Given the description of an element on the screen output the (x, y) to click on. 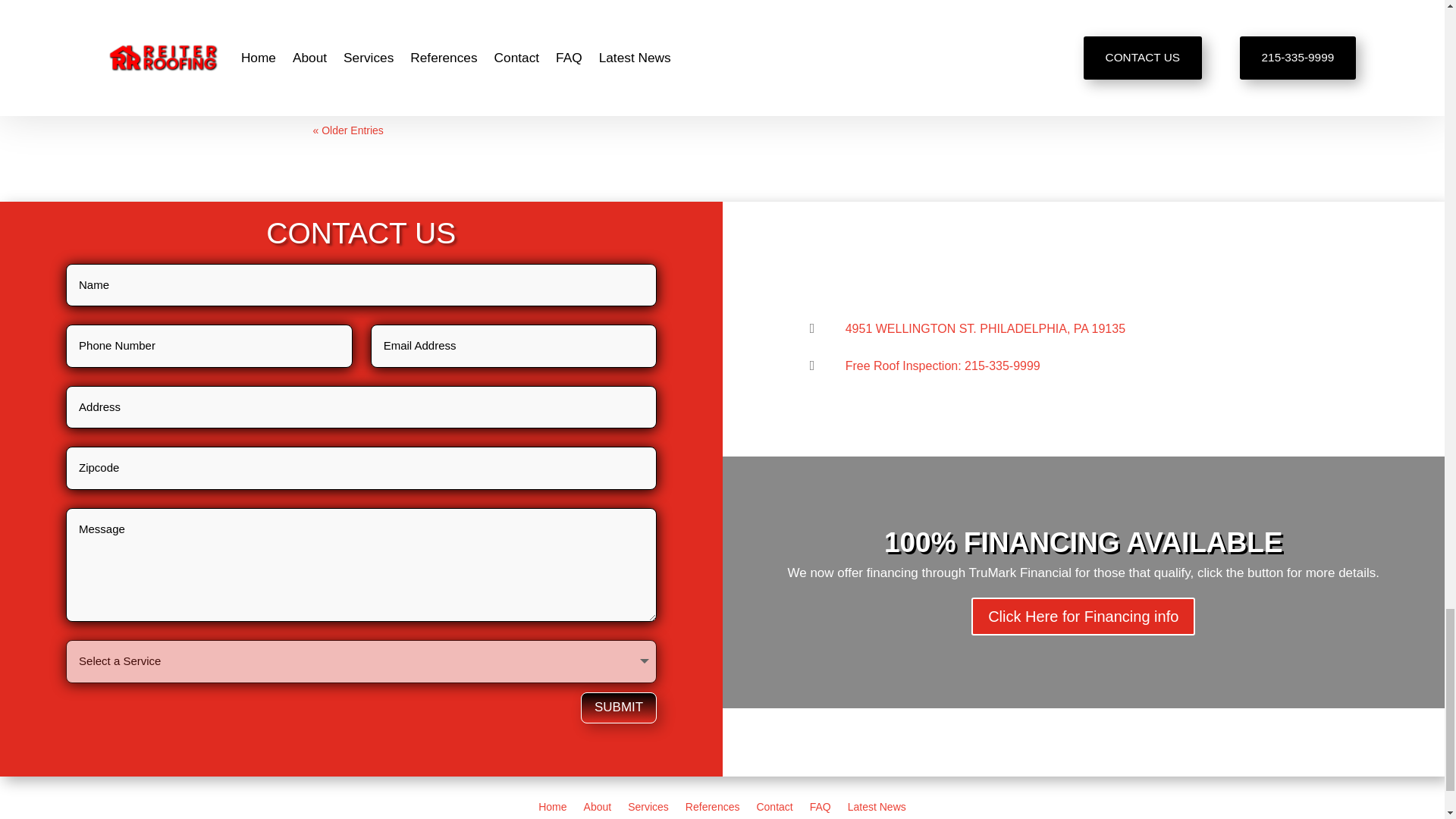
4951 WELLINGTON ST. PHILADELPHIA, PA 19135 (985, 328)
SUBMIT (618, 707)
